Given the description of an element on the screen output the (x, y) to click on. 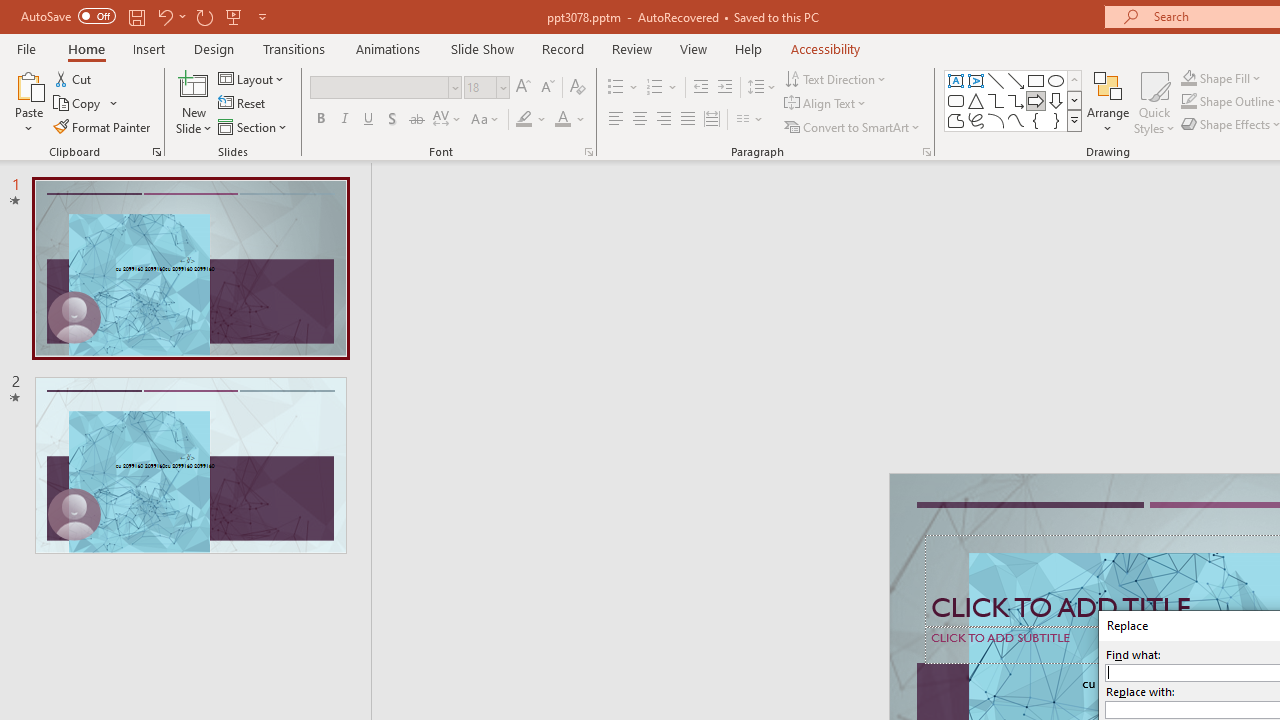
AutomationID: ShapesInsertGallery (1014, 100)
Shape Fill Dark Green, Accent 2 (1188, 78)
Arc (995, 120)
Align Right (663, 119)
